Given the description of an element on the screen output the (x, y) to click on. 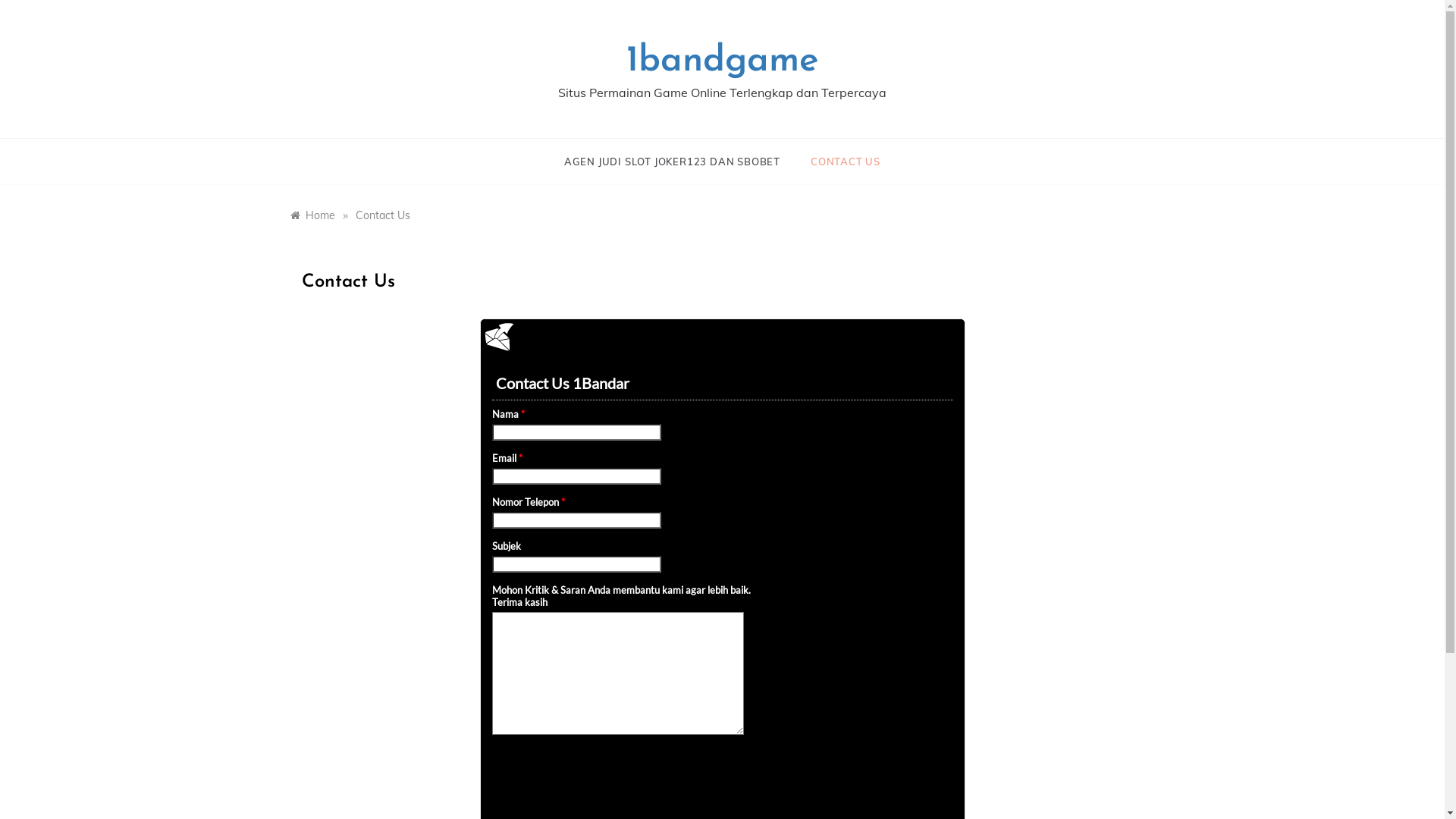
CONTACT US Element type: text (837, 161)
1bandgame Element type: text (722, 61)
Contact Us Element type: text (381, 215)
Home Element type: text (311, 215)
AGEN JUDI SLOT JOKER123 DAN SBOBET Element type: text (679, 161)
